Given the description of an element on the screen output the (x, y) to click on. 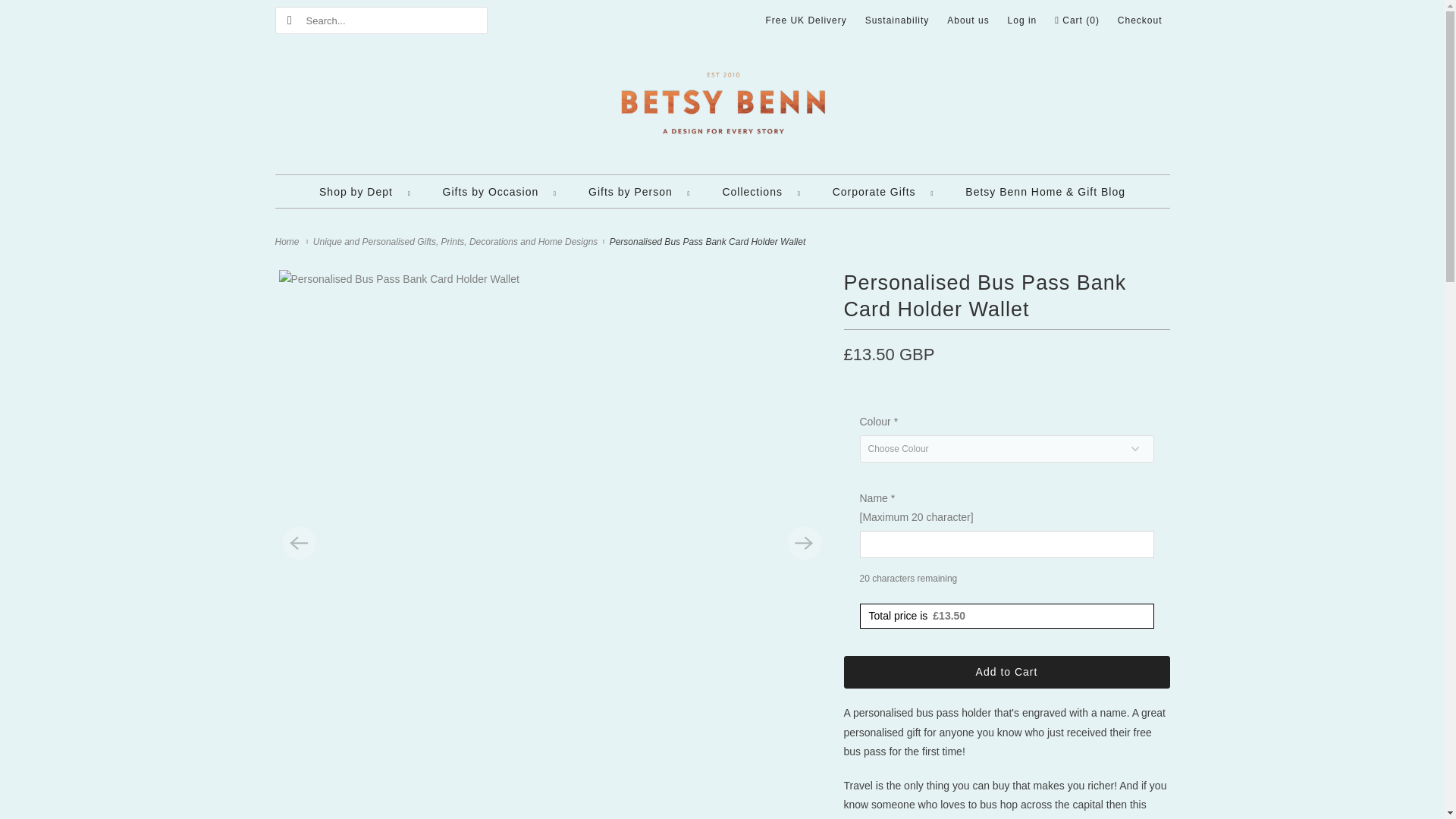
Betsy Benn (722, 110)
Betsy Benn (288, 241)
Free UK Delivery (805, 20)
About us (967, 20)
Sustainability (897, 20)
Checkout (1139, 20)
Log in (1021, 20)
